Given the description of an element on the screen output the (x, y) to click on. 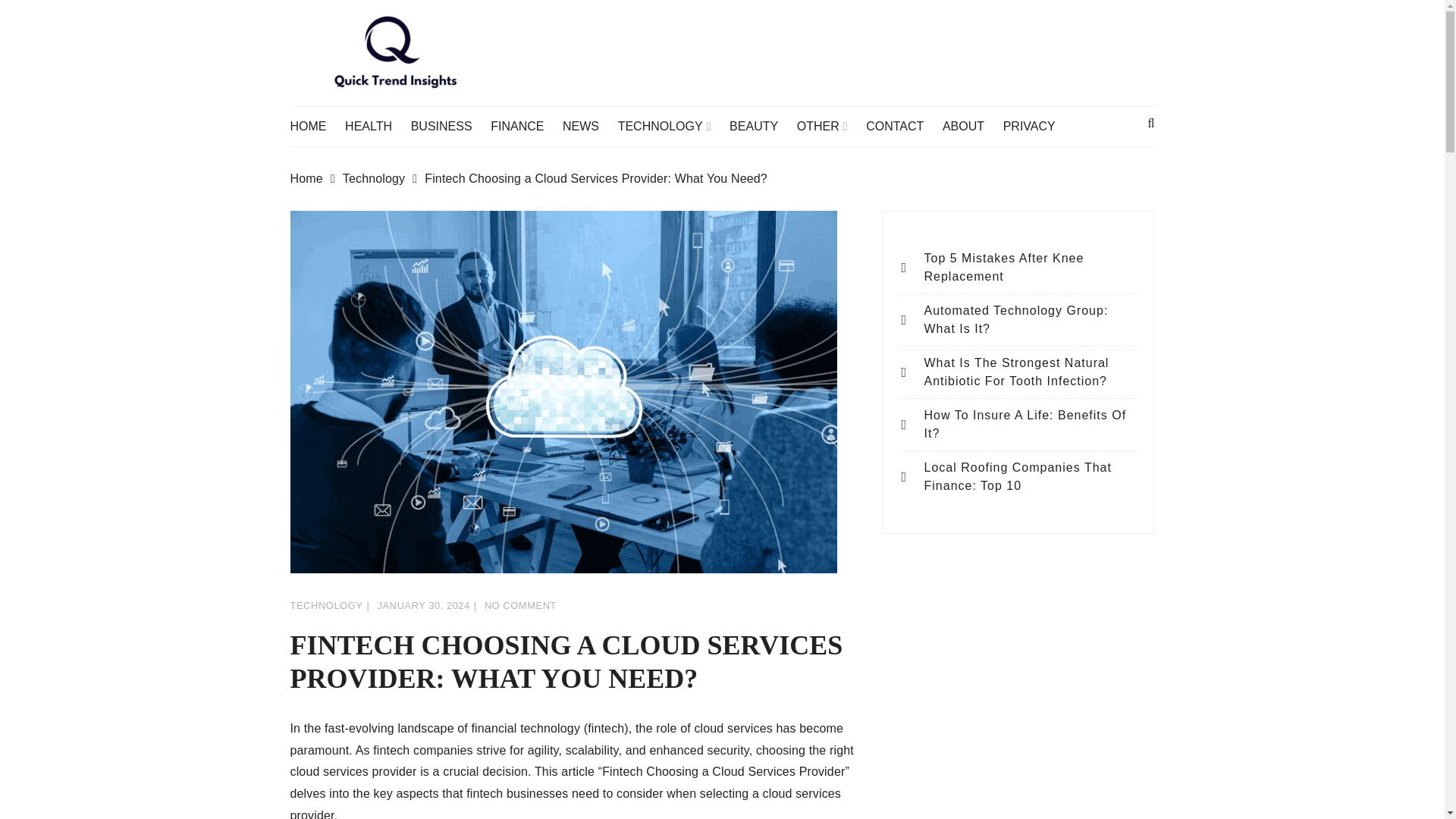
JANUARY 30, 2024 (422, 604)
BUSINESS (448, 126)
BEAUTY (761, 126)
HOME (314, 126)
NEWS (588, 126)
TECHNOLOGY (671, 126)
HEALTH (376, 126)
ABOUT (970, 126)
CONTACT (902, 126)
PRIVACY (1036, 126)
